Given the description of an element on the screen output the (x, y) to click on. 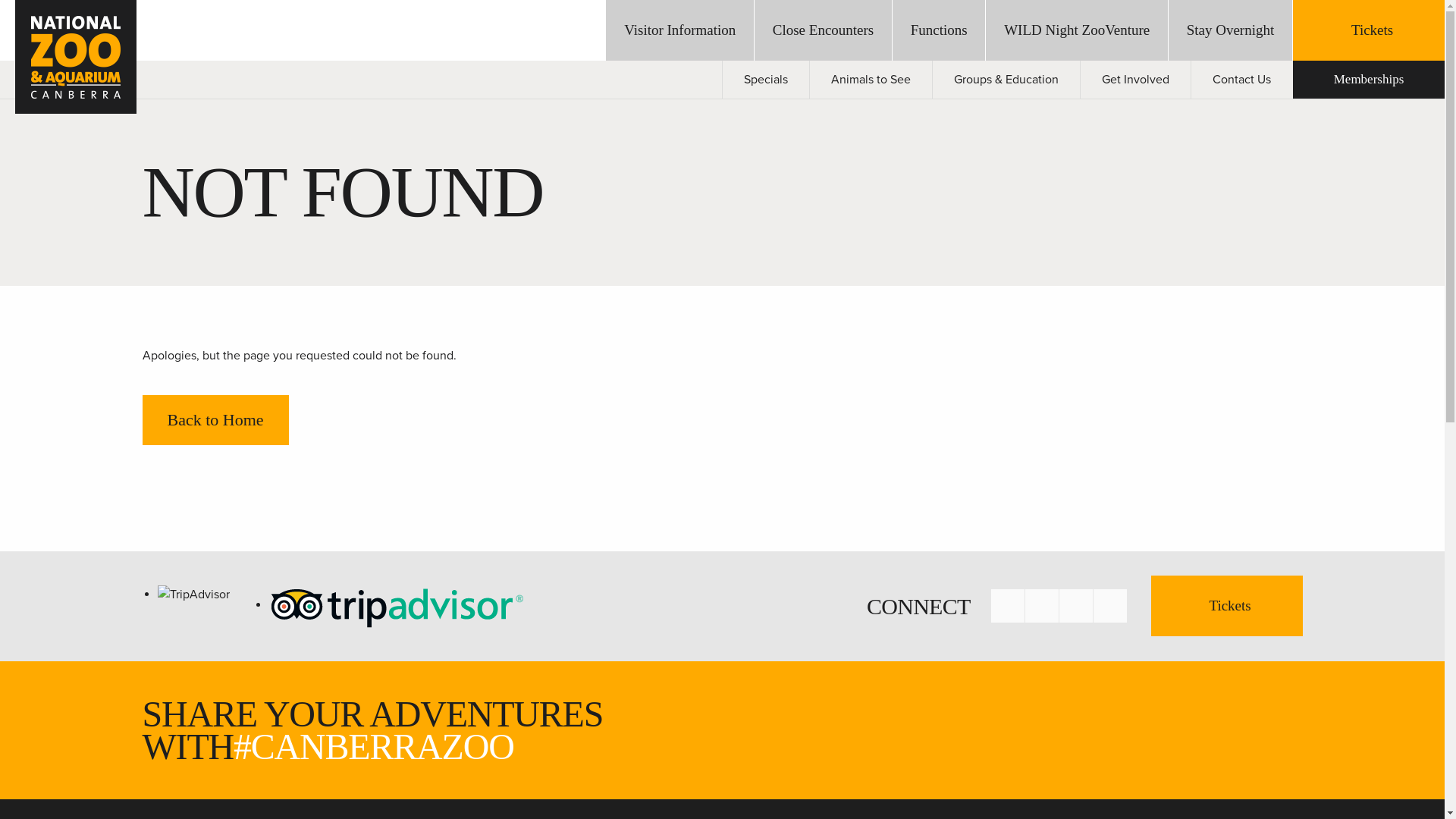
Stay Overnight Element type: text (1230, 30)
Visitor Information Element type: text (679, 30)
WILD Night ZooVenture Element type: text (1076, 30)
Groups & Education Element type: text (1005, 79)
Animals to See Element type: text (870, 79)
Tickets Element type: text (1368, 30)
Tickets Element type: text (1226, 605)
Memberships Element type: text (1368, 79)
NATIONAL ZOO & AQUARIUM Element type: text (75, 56)
#CANBERRAZOO Element type: text (373, 746)
Back to Home Element type: text (215, 420)
Contact Us Element type: text (1241, 79)
Specials Element type: text (765, 79)
Close Encounters Element type: text (822, 30)
Get Involved Element type: text (1135, 79)
Functions Element type: text (938, 30)
